Given the description of an element on the screen output the (x, y) to click on. 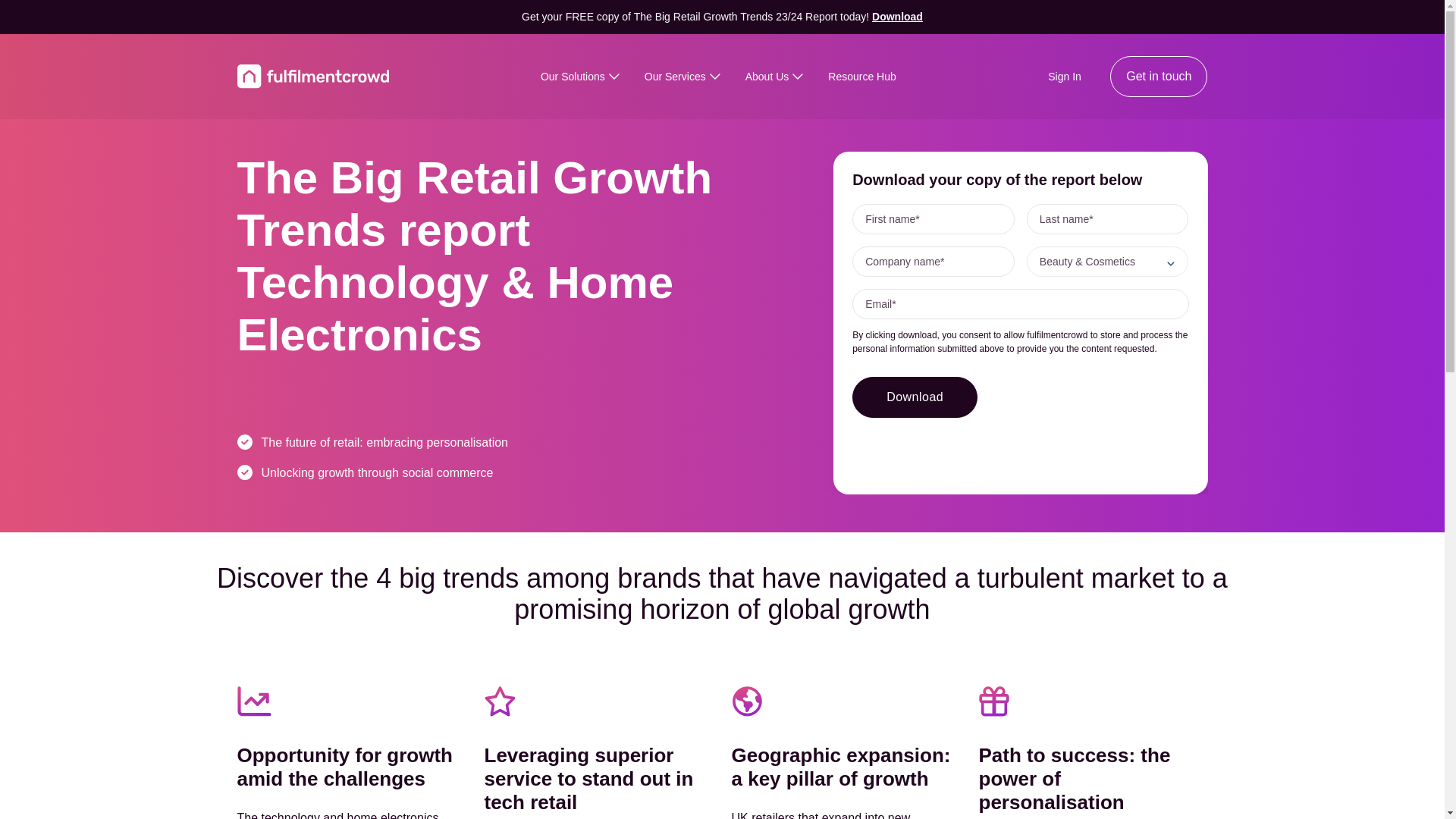
Resource Hub (862, 76)
Download (913, 396)
About Us (773, 76)
Sign In (1064, 76)
Download (897, 16)
Get in touch (1158, 76)
Get in touch (1158, 75)
Our Services (681, 76)
Our Solutions (578, 76)
